Given the description of an element on the screen output the (x, y) to click on. 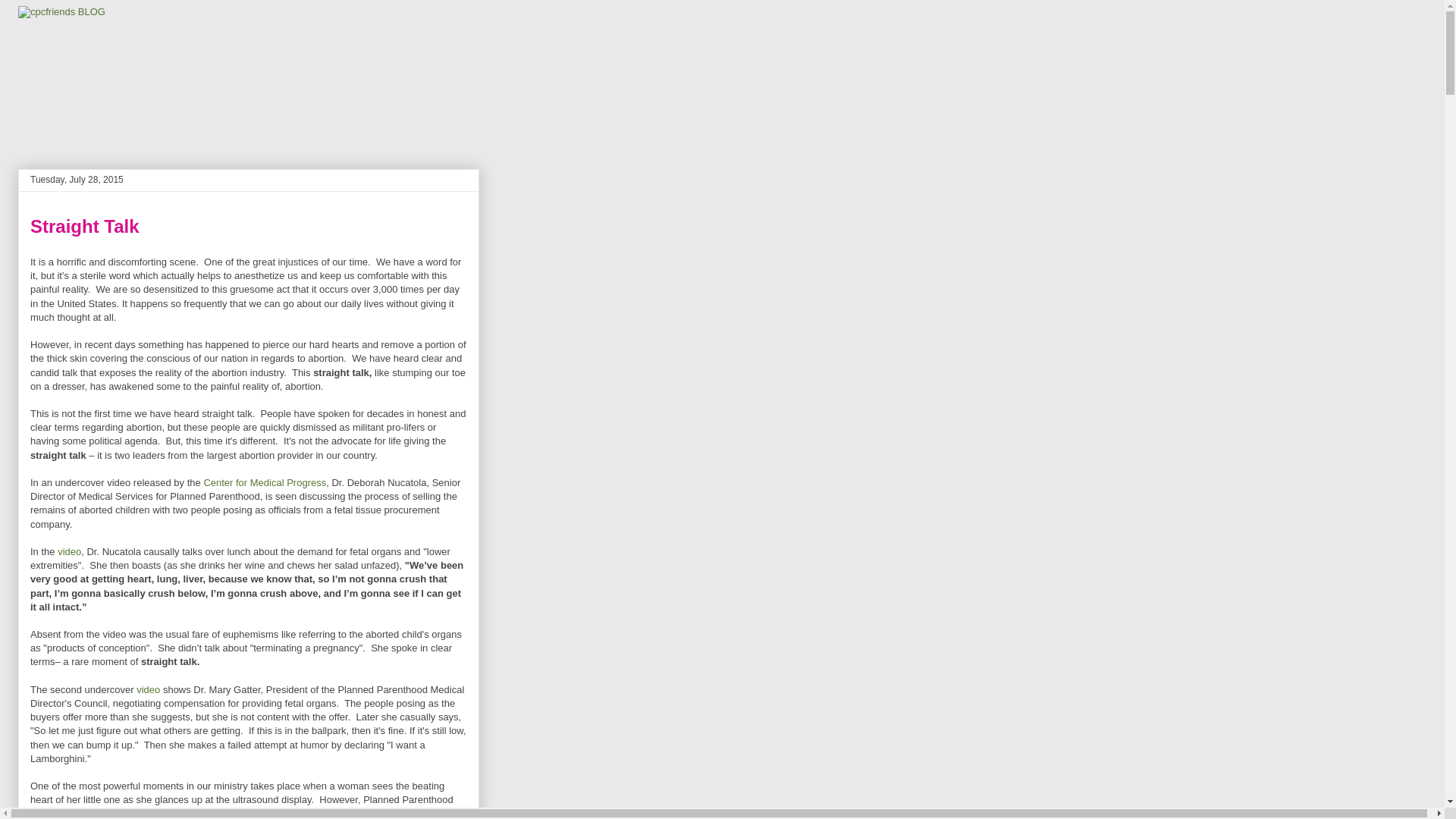
Center for Medical Progress (264, 482)
video (69, 551)
Straight Talk (84, 226)
video (149, 689)
